Given the description of an element on the screen output the (x, y) to click on. 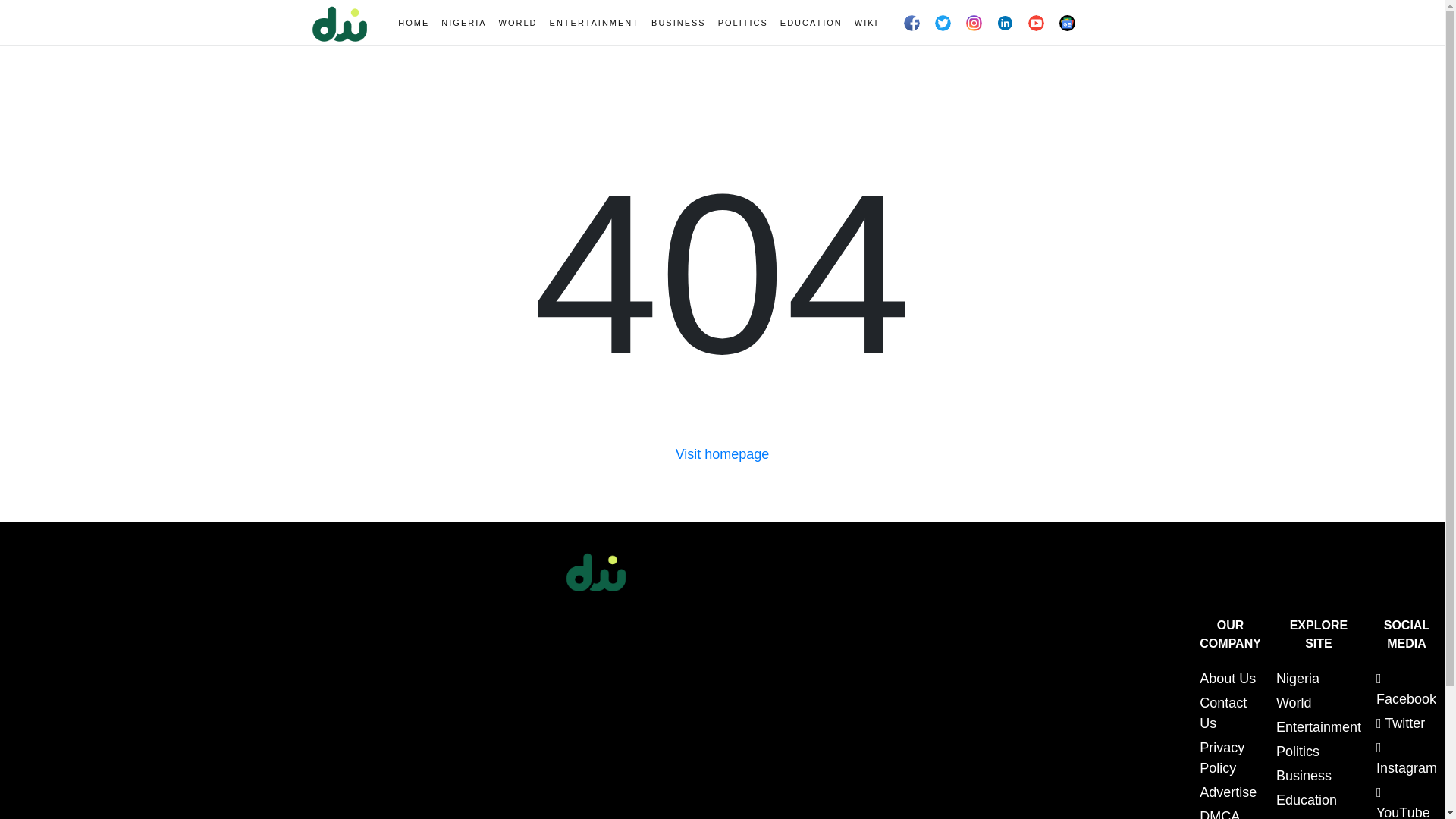
Visit homepage (722, 453)
HOME (413, 22)
ENTERTAINMENT (594, 22)
WORLD (518, 22)
BUSINESS (678, 22)
POLITICS (742, 22)
NIGERIA (463, 22)
EDUCATION (811, 22)
